Given the description of an element on the screen output the (x, y) to click on. 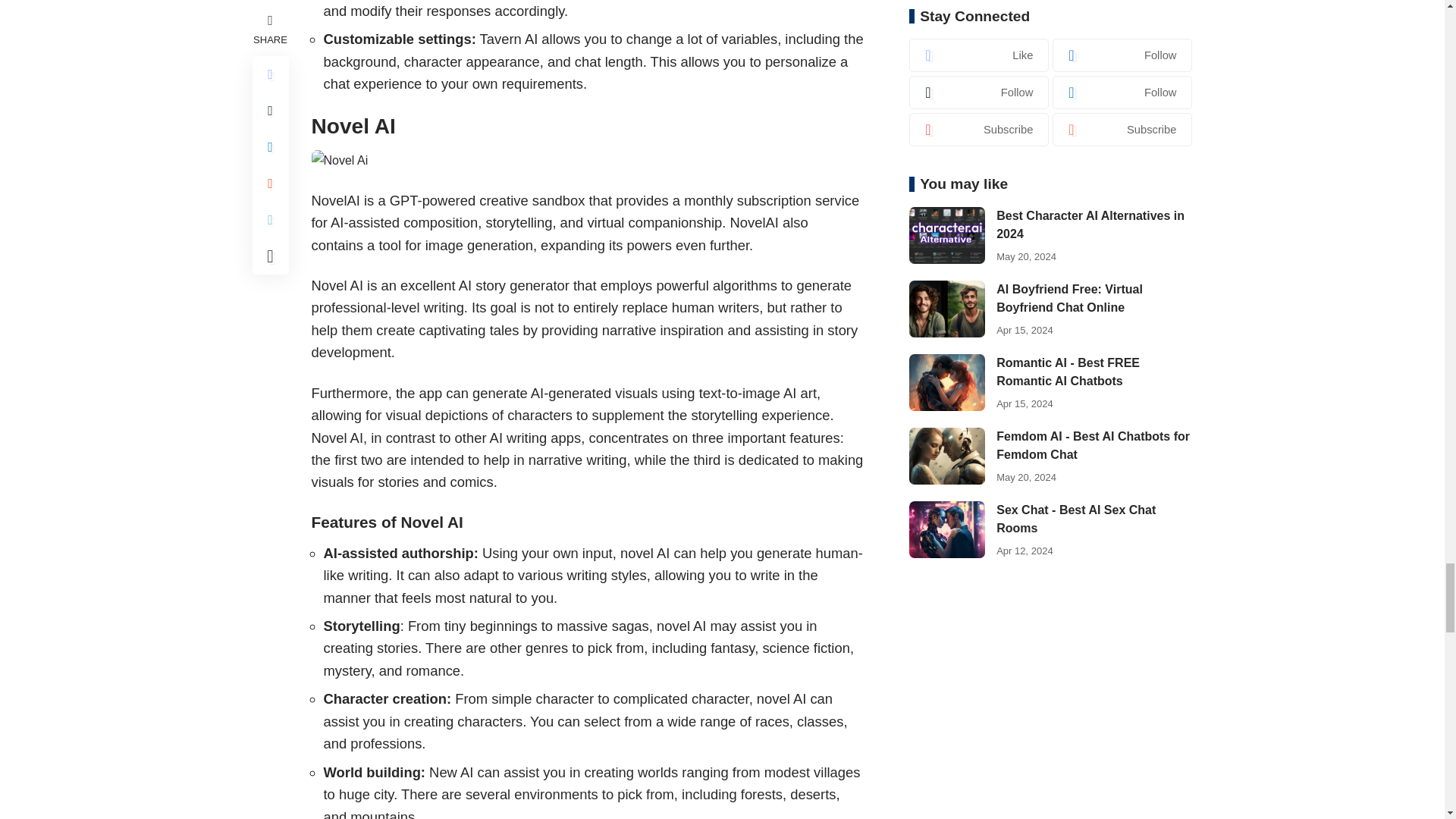
9 Best Janitor Ai Alternatives You Must Try Now (339, 159)
